Given the description of an element on the screen output the (x, y) to click on. 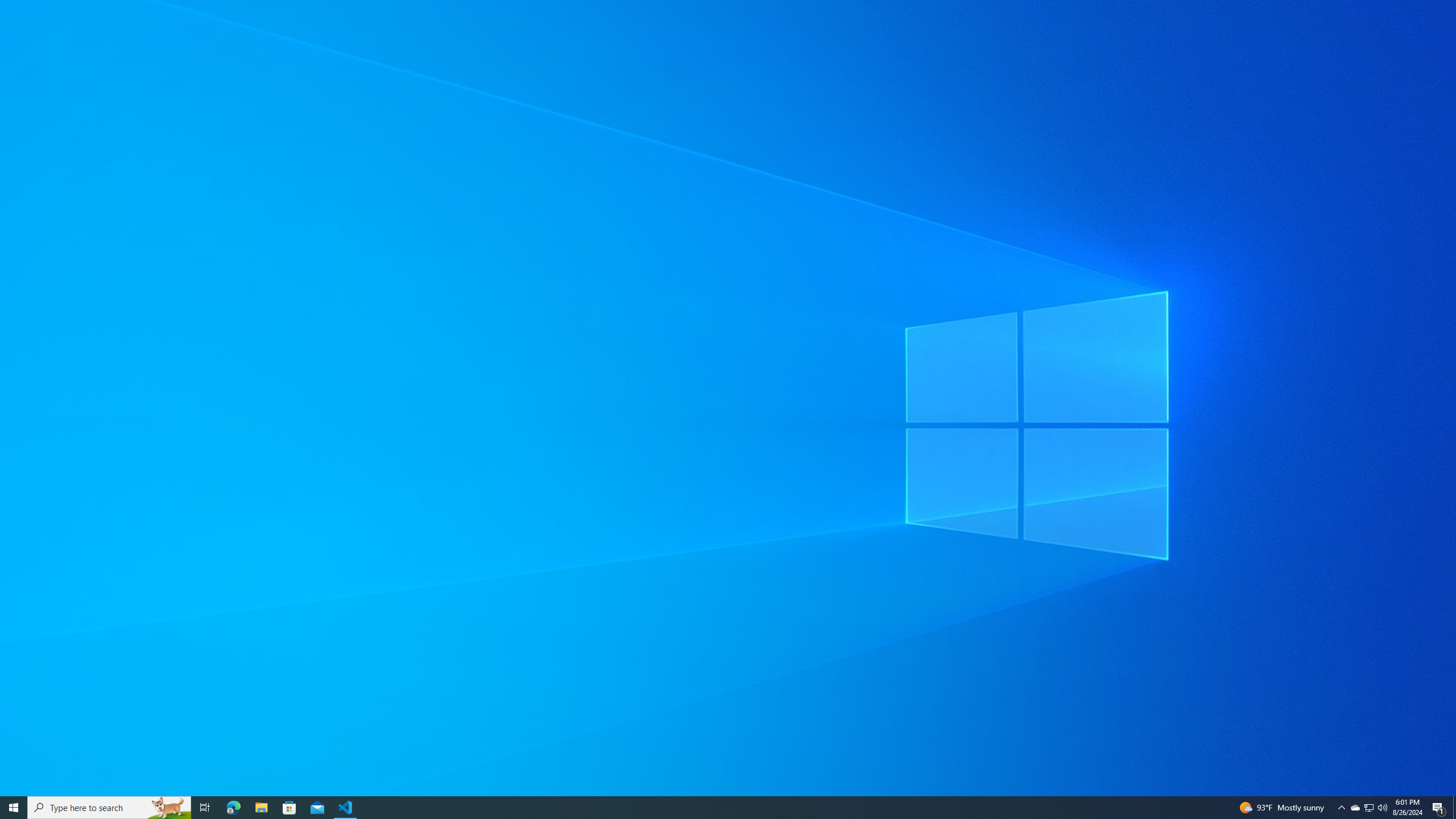
Running applications (717, 807)
Action Center, 1 new notification (1439, 807)
